Given the description of an element on the screen output the (x, y) to click on. 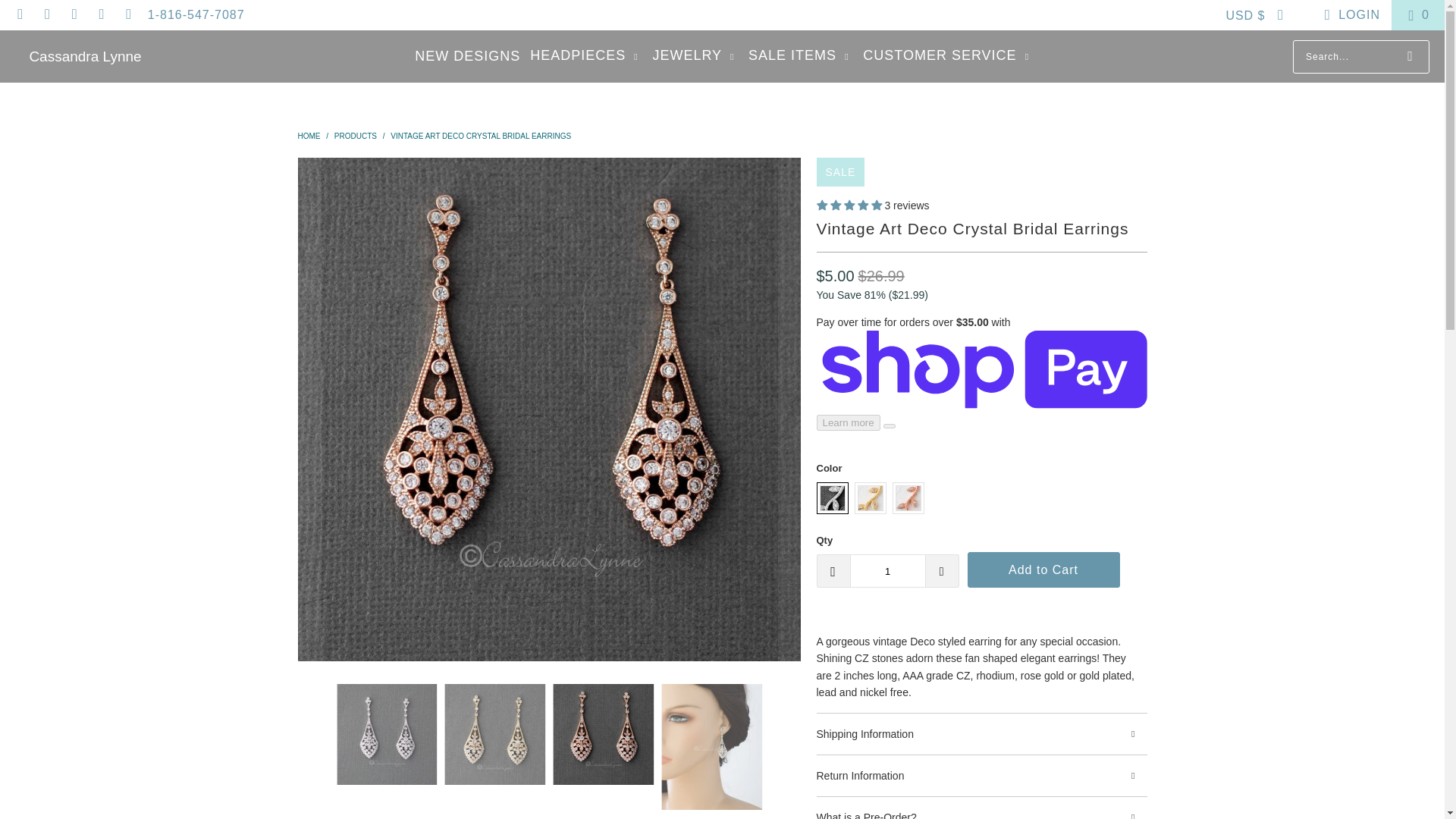
Cassandra Lynne on TikTok (127, 14)
Cassandra Lynne on Facebook (47, 14)
Cassandra Lynne (85, 56)
1 (886, 571)
Email Cassandra Lynne (19, 14)
Cassandra Lynne on Instagram (73, 14)
Cassandra Lynne (309, 135)
Products (356, 135)
Cassandra Lynne on Pinterest (101, 14)
My Account  (1348, 14)
